Given the description of an element on the screen output the (x, y) to click on. 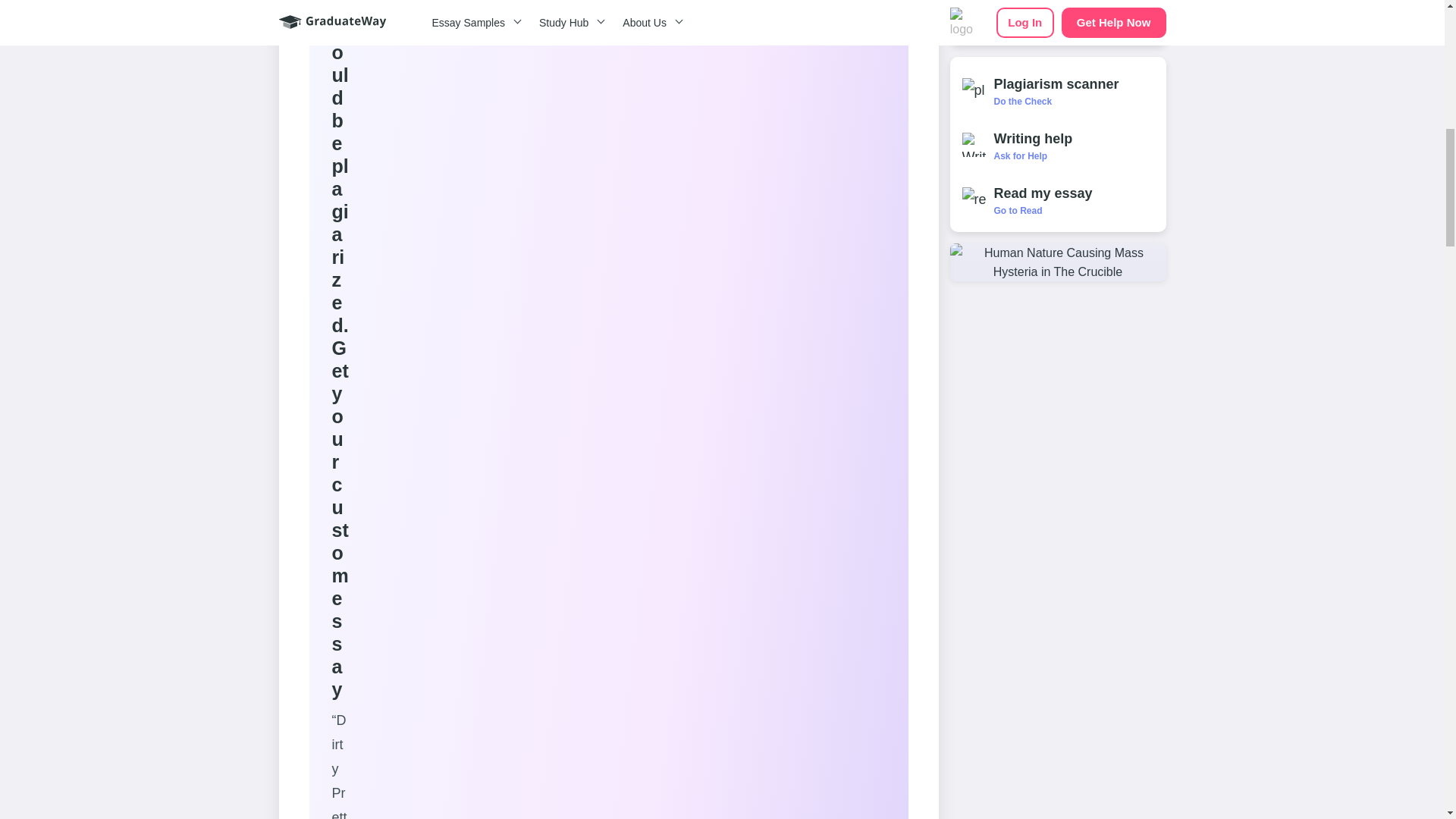
Human Nature Causing Mass Hysteria in The Crucible (1057, 262)
